Given the description of an element on the screen output the (x, y) to click on. 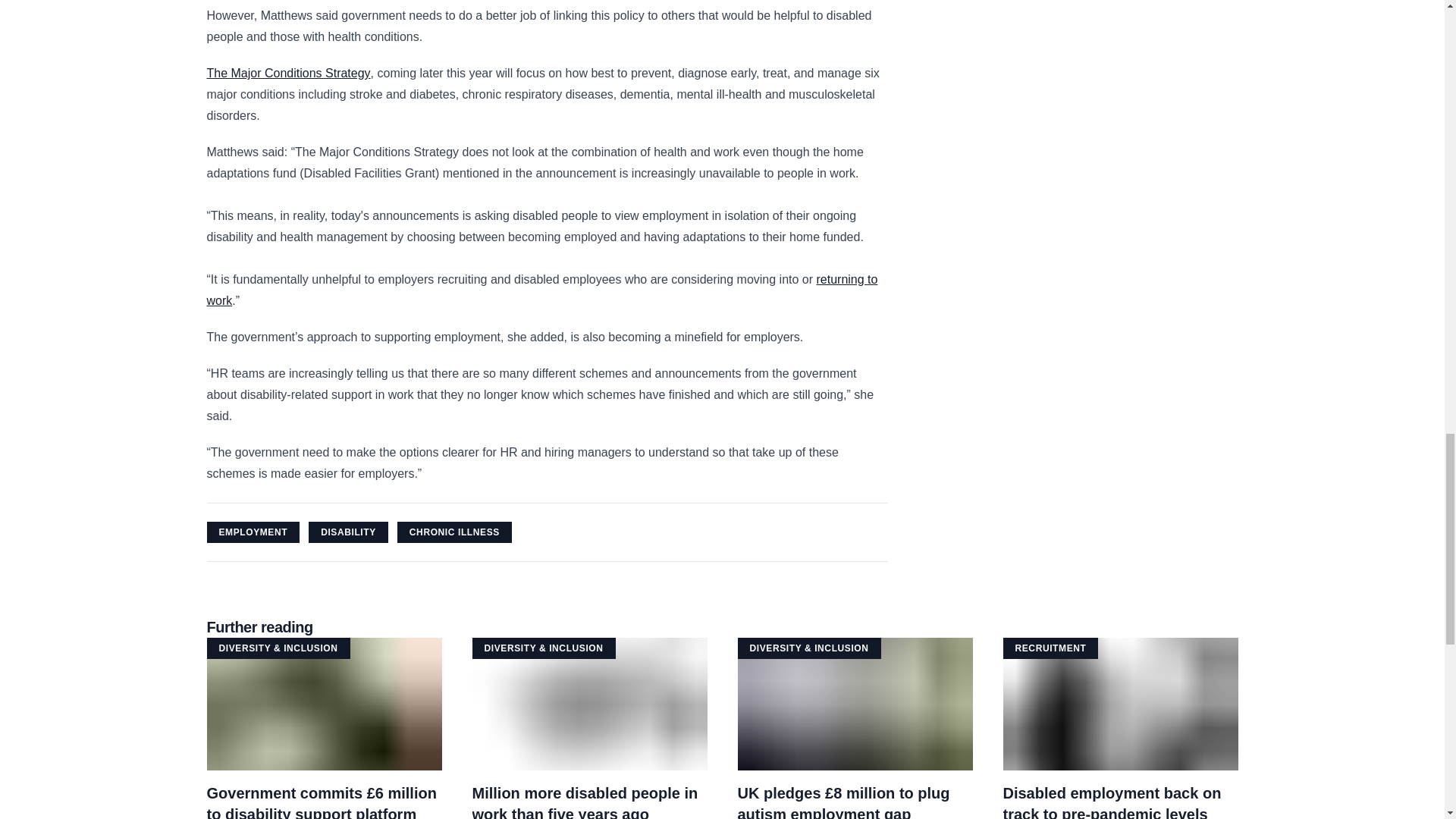
Million more disabled people in work than five years ago (541, 289)
